Given the description of an element on the screen output the (x, y) to click on. 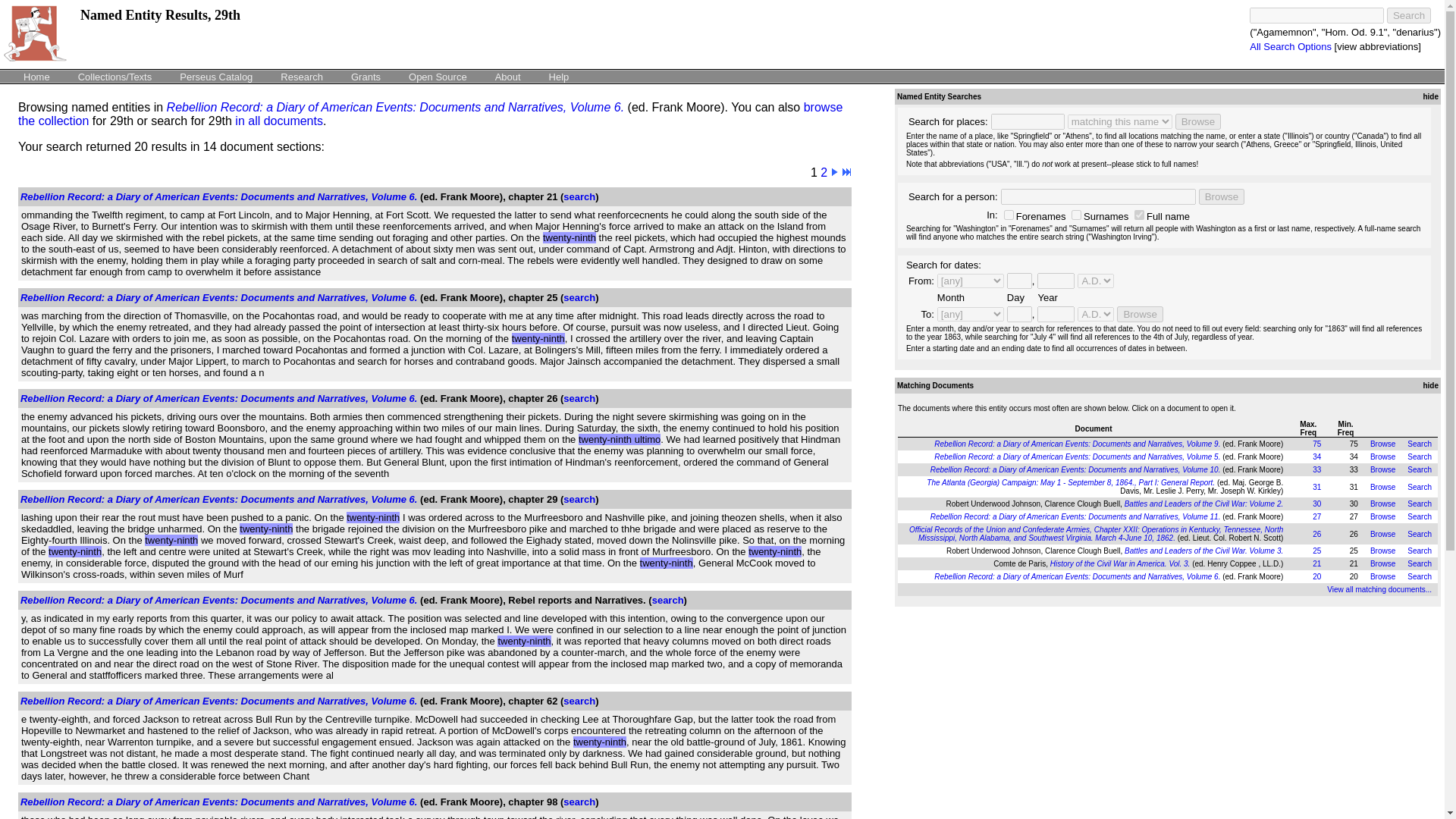
30 (1316, 503)
Browse (1221, 196)
Browse (1382, 503)
Search (1419, 470)
Battles and Leaders of the Civil War: Volume 2. (1204, 503)
27 (1316, 516)
Browse (1382, 443)
33 (1316, 470)
Browse (1382, 516)
Search (1409, 15)
